Given the description of an element on the screen output the (x, y) to click on. 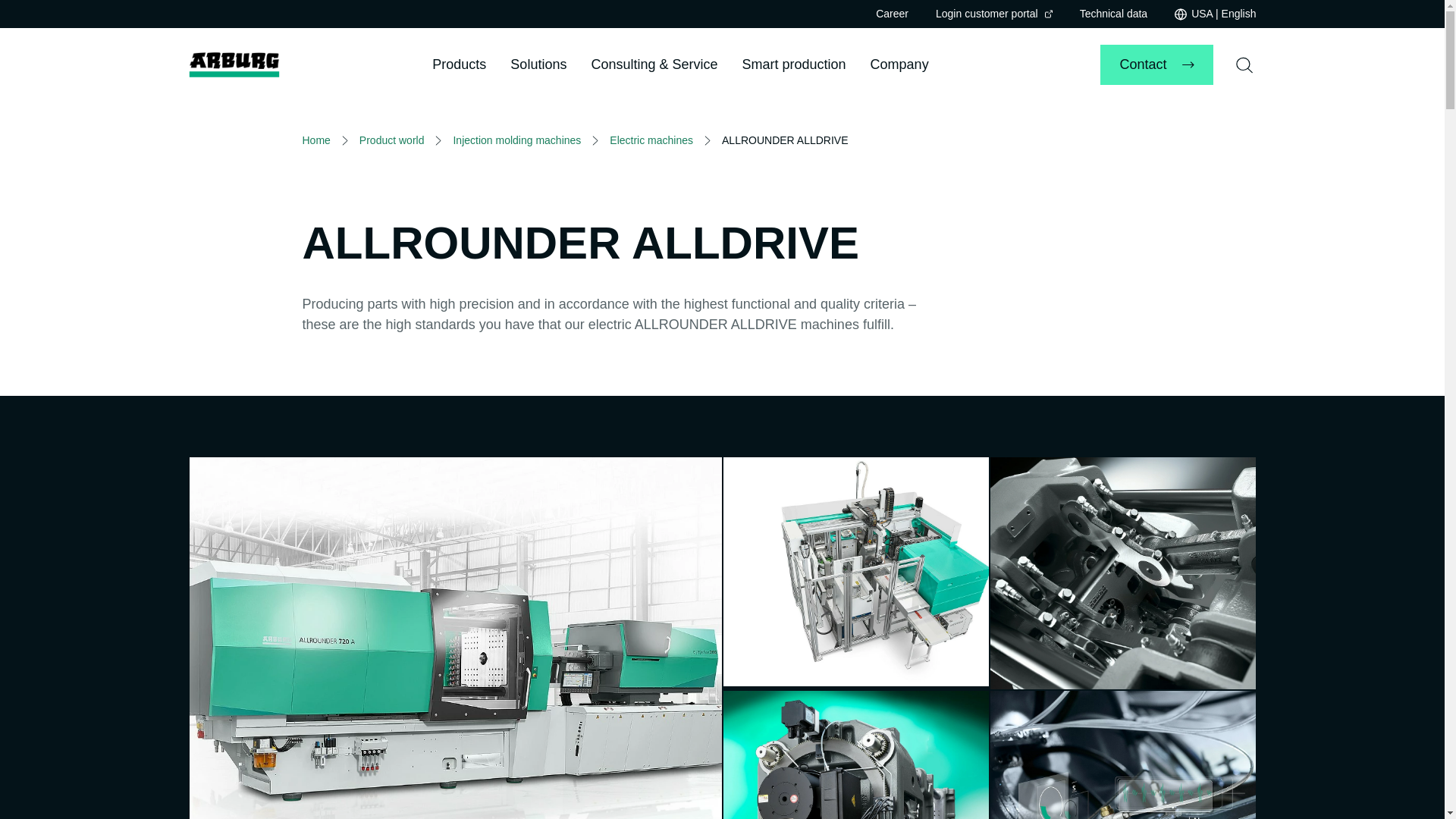
Login customer portal (994, 13)
Career (892, 13)
Technical data (1114, 13)
Login customer portal (994, 13)
Career (892, 13)
Technical data (1114, 13)
